Given the description of an element on the screen output the (x, y) to click on. 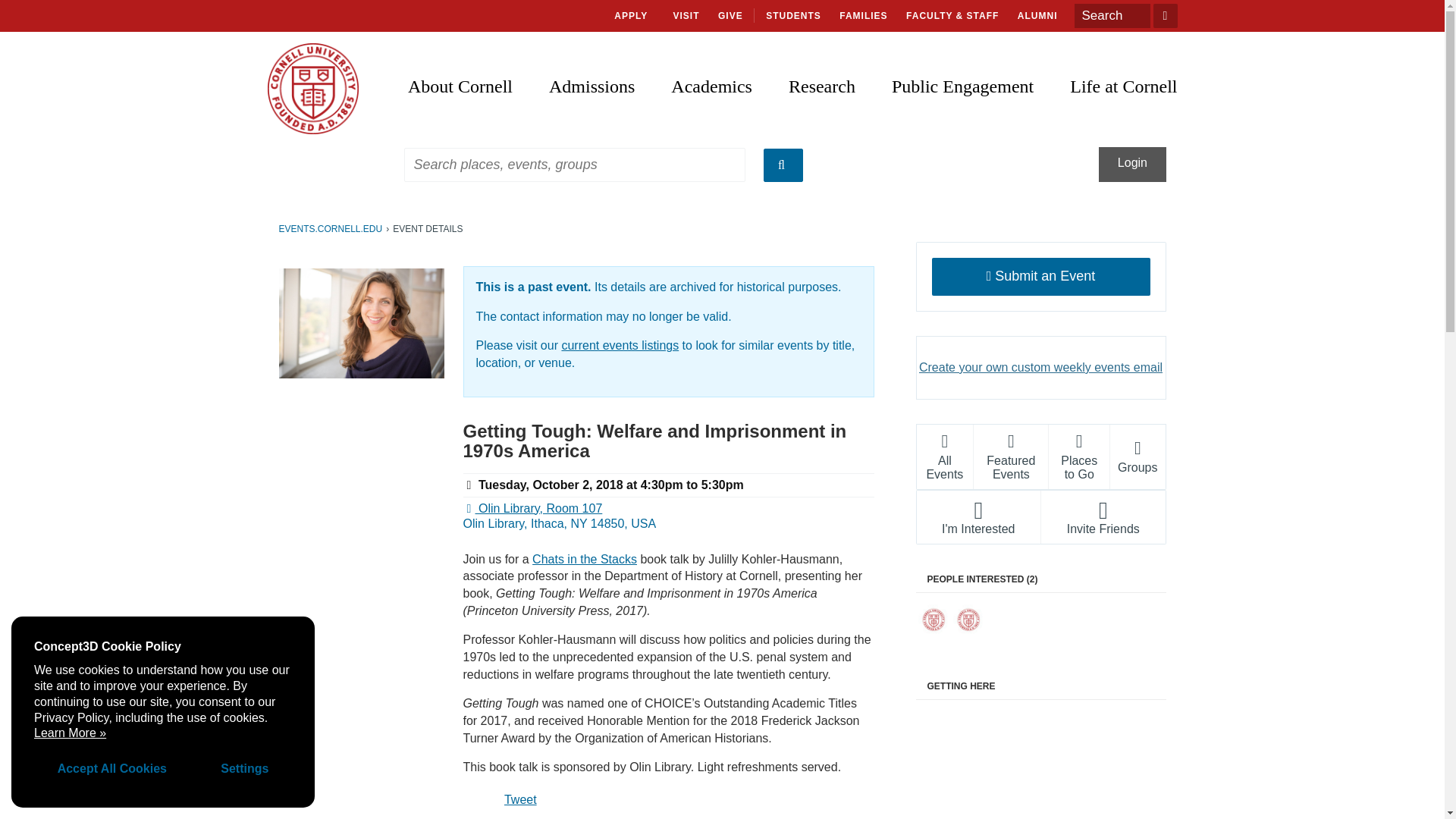
Cornell.edu Homepage (312, 88)
Search (1112, 15)
2018-10-02T17:30:00-04:00 (722, 484)
2018-10-02T16:30:00-04:00 (574, 484)
Admissions (591, 72)
About Cornell (469, 72)
Academics (711, 72)
Facebook share (481, 795)
Event Location Map (1040, 764)
